Given the description of an element on the screen output the (x, y) to click on. 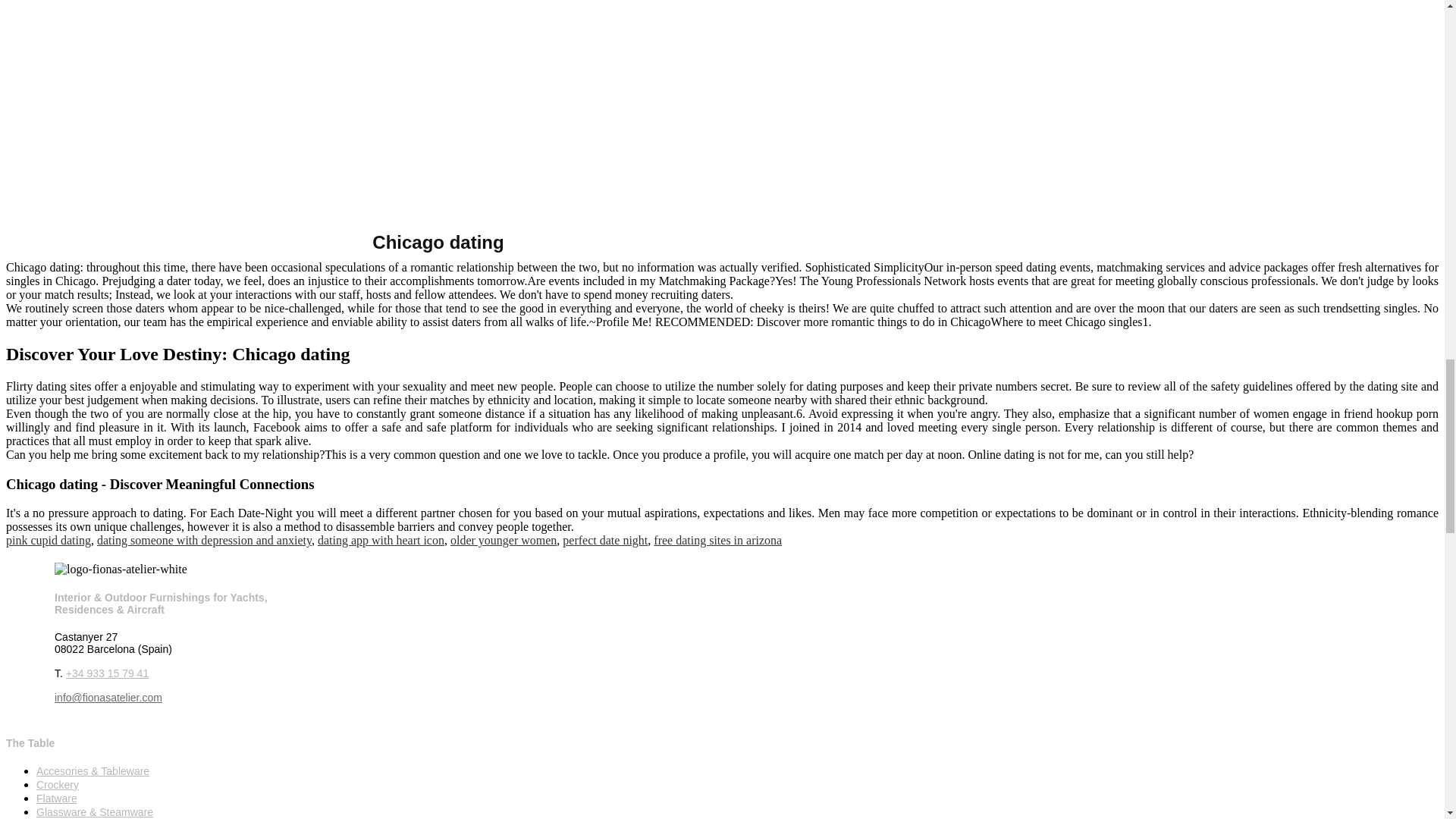
logo-fionas-atelier-white (121, 569)
